Given the description of an element on the screen output the (x, y) to click on. 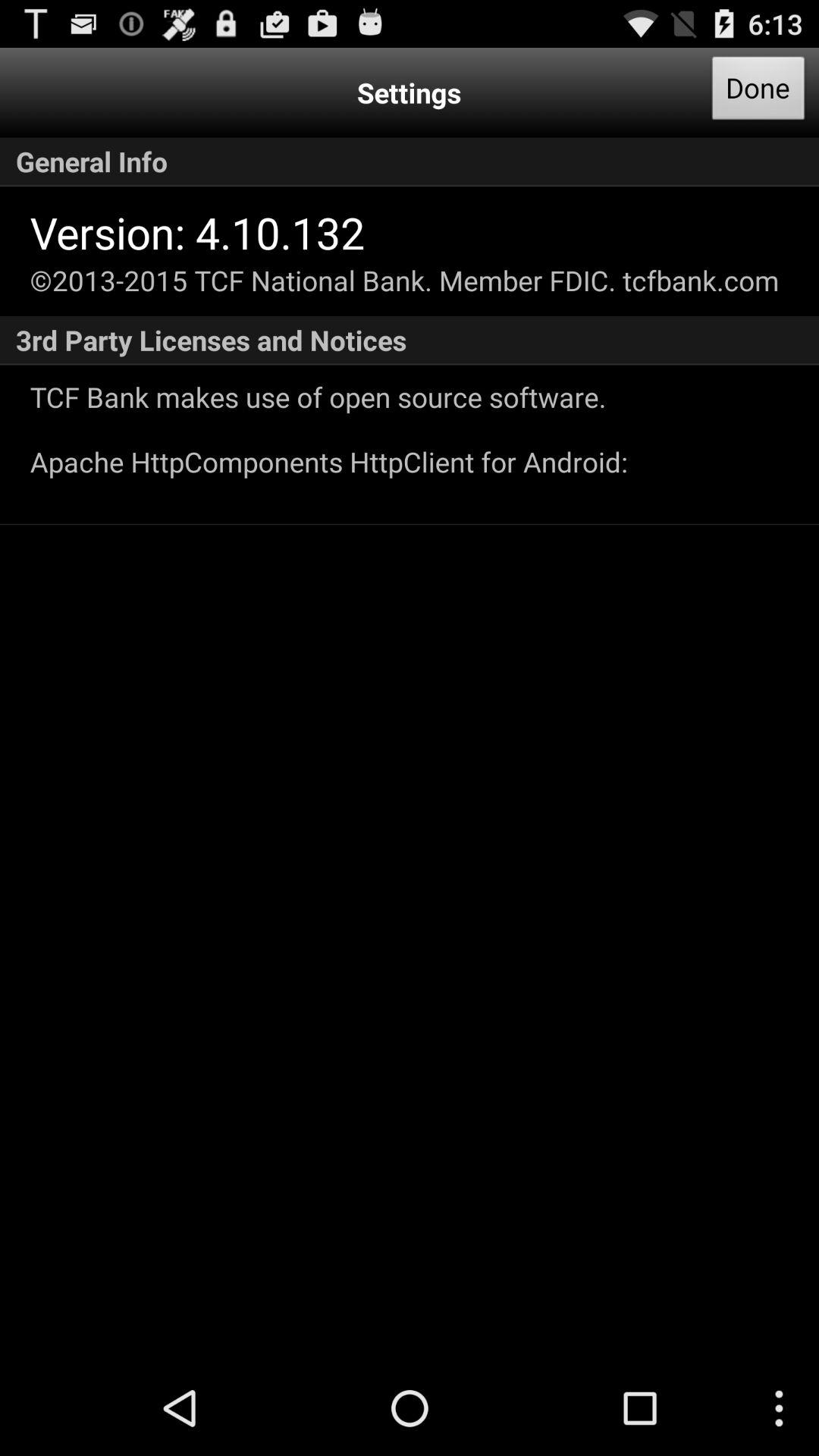
flip until version 4 10 app (197, 232)
